Given the description of an element on the screen output the (x, y) to click on. 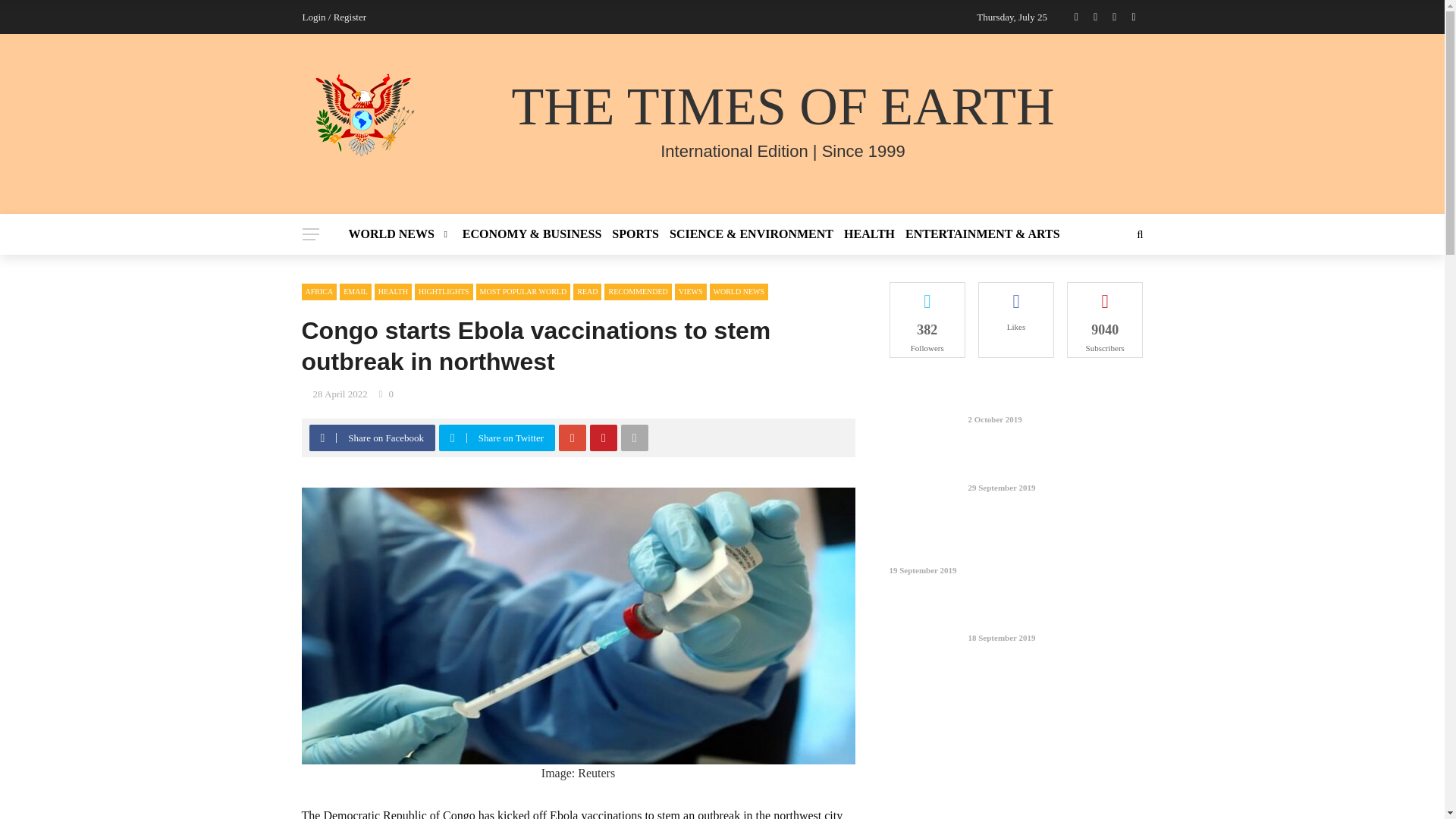
WORLD NEWS (403, 233)
Google Plus (572, 438)
SPORTS (635, 233)
Twitter (451, 438)
HEALTH (868, 233)
Facebook (322, 438)
Pinterest (603, 438)
